Given the description of an element on the screen output the (x, y) to click on. 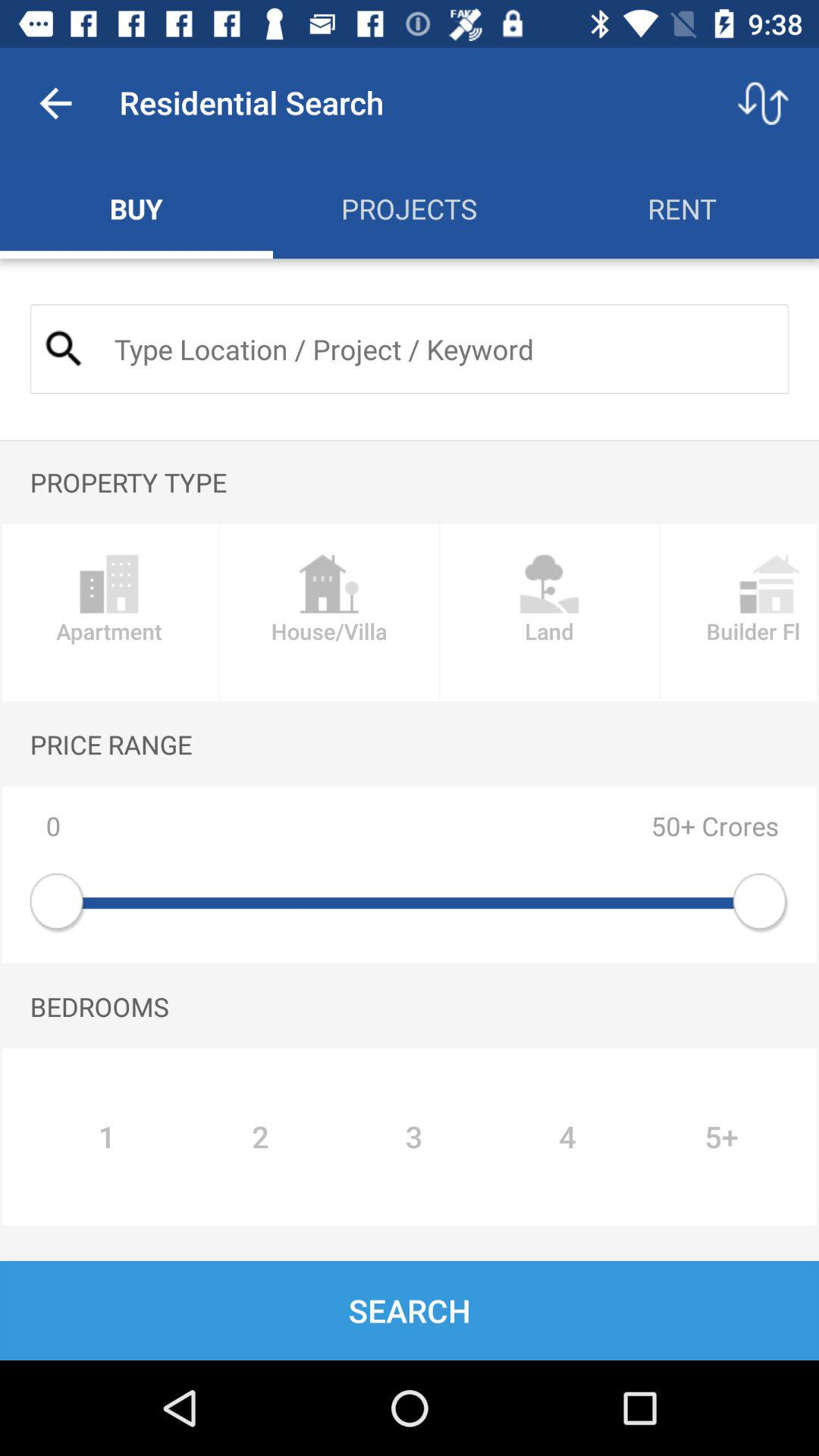
turn off the item below the bedrooms item (721, 1137)
